Given the description of an element on the screen output the (x, y) to click on. 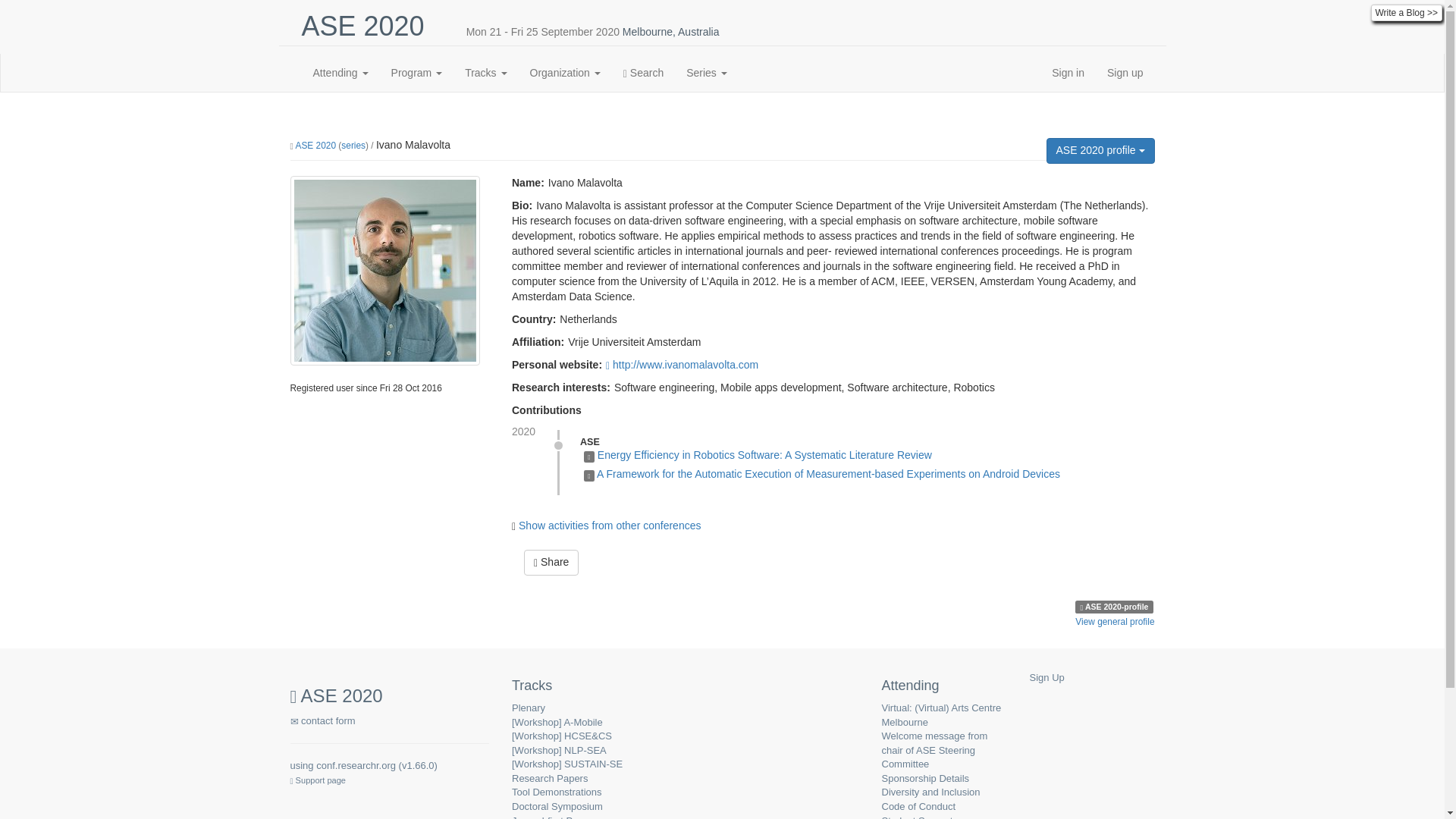
Melbourne, Australia (671, 31)
Attending (340, 72)
Tracks (485, 72)
ASE 2020 (362, 26)
Program (417, 72)
